Given the description of an element on the screen output the (x, y) to click on. 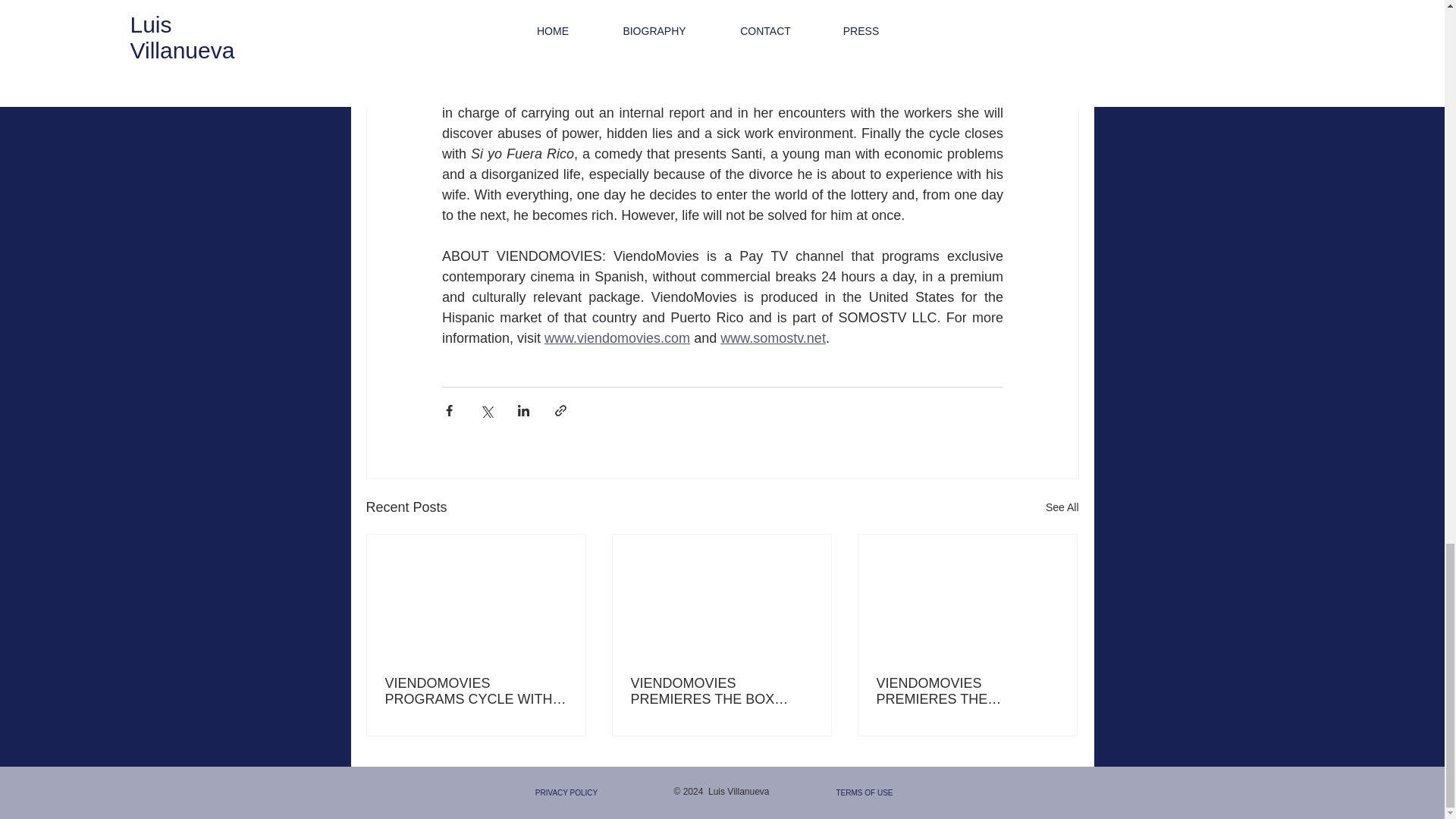
www.viendomovies.com (617, 337)
VIENDOMOVIES PROGRAMS CYCLE WITH FILM STAR ALFREDO CASTRO (476, 691)
www.somostv.net (772, 337)
See All (1061, 507)
